Given the description of an element on the screen output the (x, y) to click on. 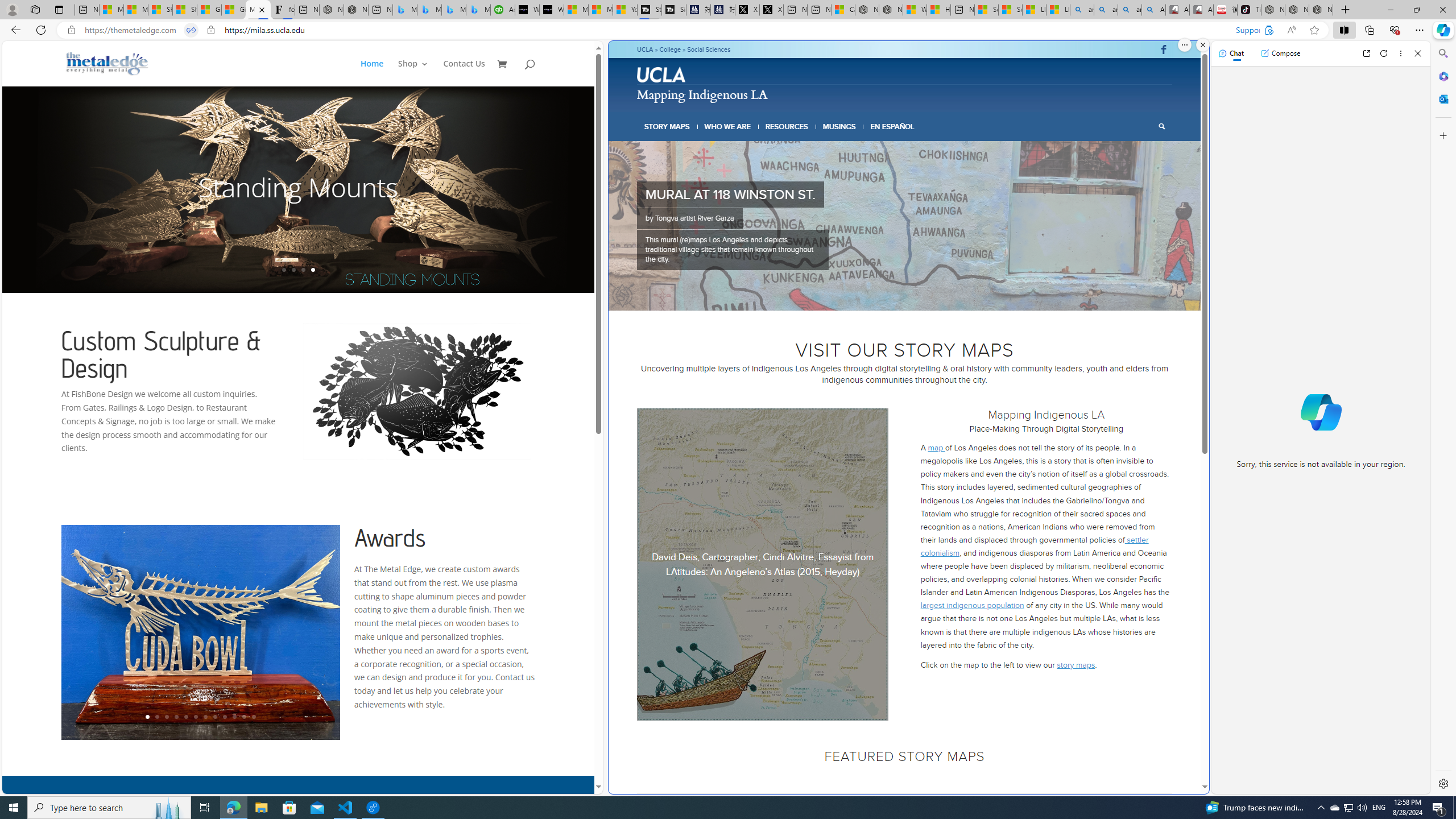
RESOURCES (786, 126)
4 (899, 296)
Side bar (1443, 418)
Streaming Coverage | T3 (648, 9)
WHO WE ARE (727, 126)
More options. (1183, 45)
Compose (1280, 52)
amazon - Search Images (1129, 9)
What's the best AI voice generator? - voice.ai (551, 9)
